Given the description of an element on the screen output the (x, y) to click on. 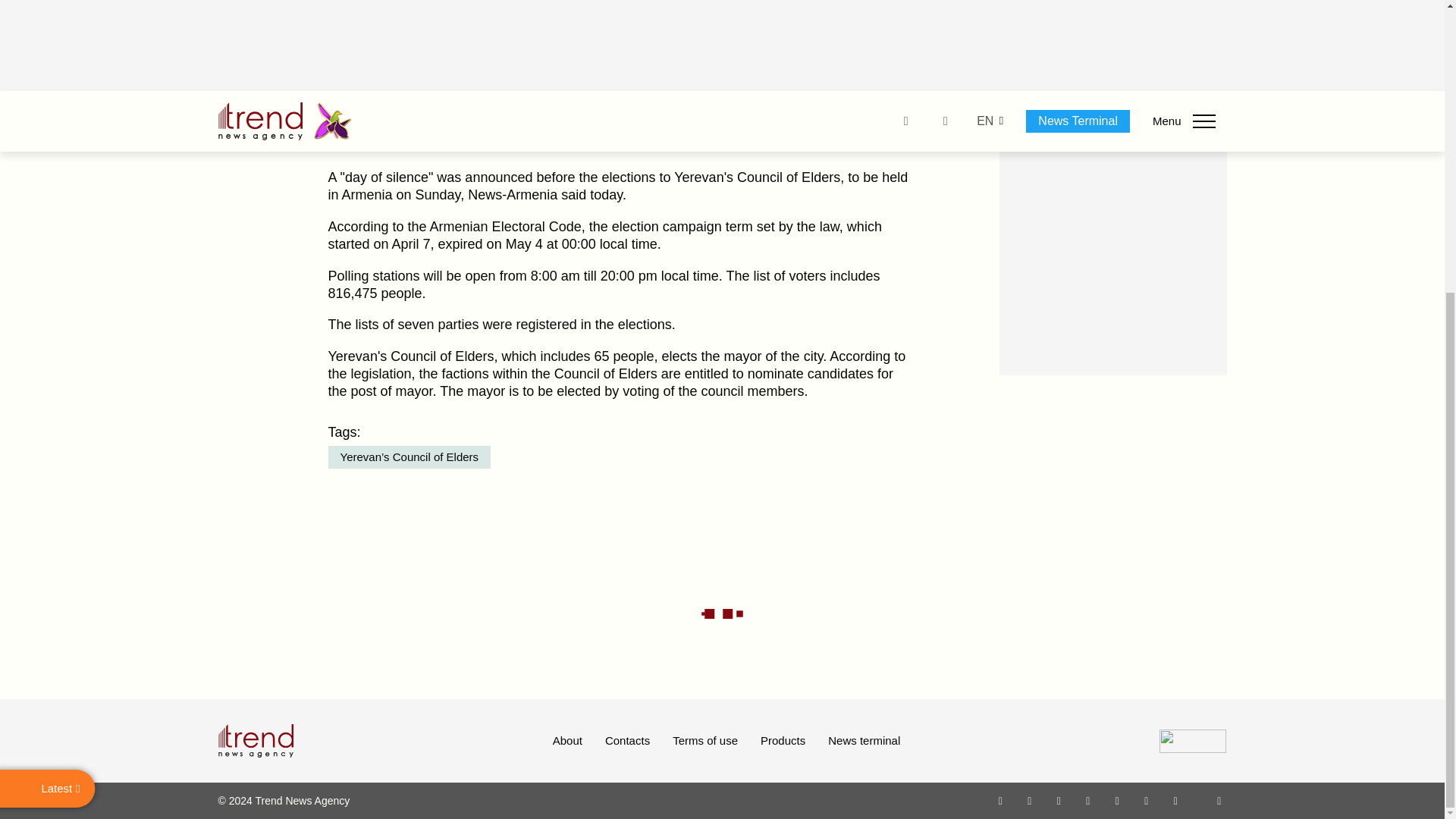
LinkedIn (1146, 800)
Android App (1176, 800)
Facebook (1029, 800)
Twitter (1059, 800)
Youtube (1088, 800)
Telegram (1117, 800)
Whatsapp (1000, 800)
RSS Feed (1219, 800)
